Given the description of an element on the screen output the (x, y) to click on. 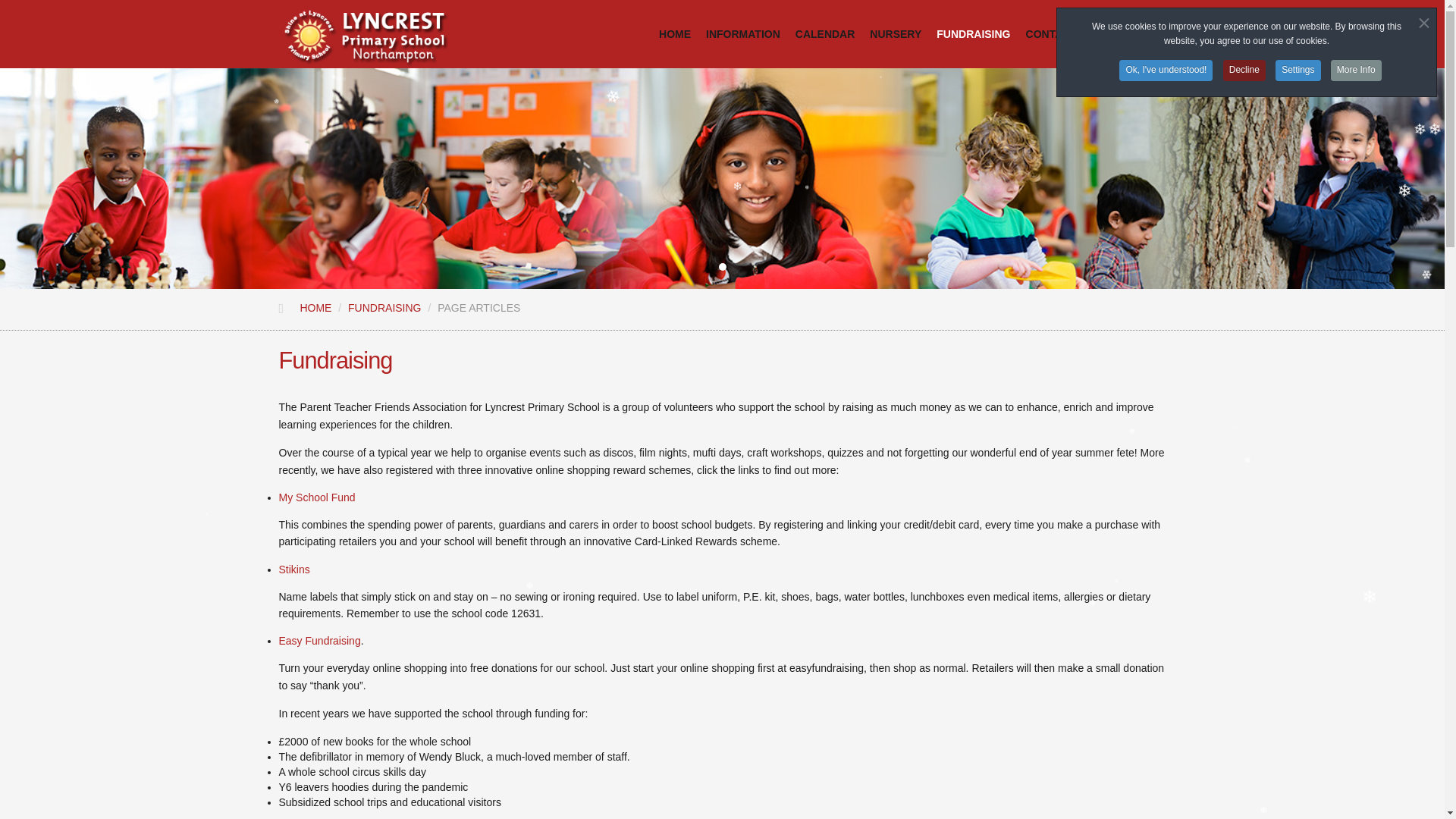
HOME (315, 307)
My School Fund (317, 497)
NURSERY (895, 22)
Fundraising (722, 361)
CALENDAR (825, 22)
INFORMATION (743, 22)
FUNDRAISING (973, 22)
CONTACT (1051, 22)
Stikins (294, 569)
FUNDRAISING (383, 307)
Easy Fundraising (320, 640)
